Given the description of an element on the screen output the (x, y) to click on. 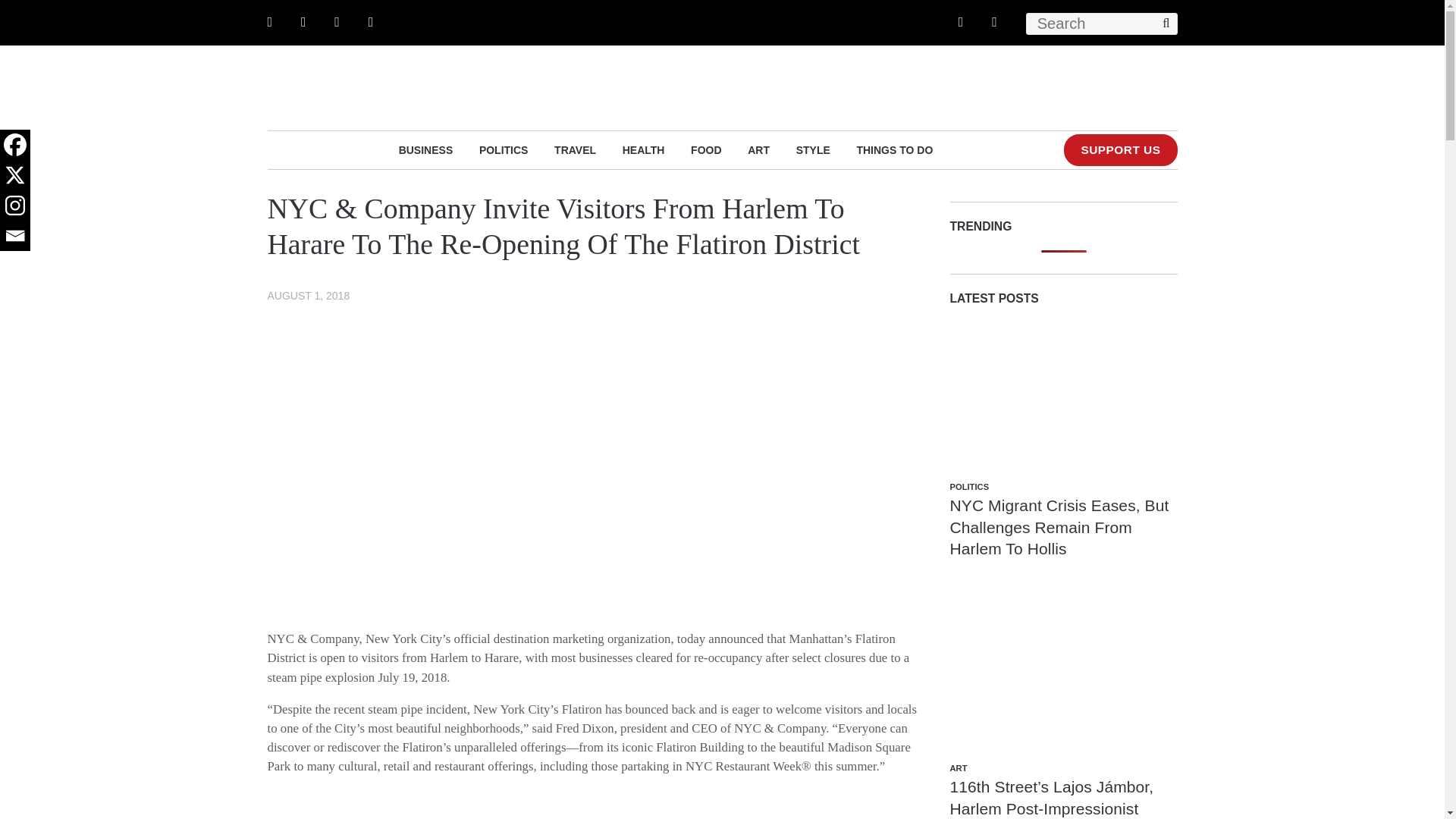
Instagram (15, 205)
Email (15, 235)
SUPPORT US (1120, 150)
POLITICS (503, 149)
X (15, 174)
BUSINESS (425, 149)
HEALTH (644, 149)
Facebook (15, 144)
THINGS TO DO (894, 149)
TRAVEL (574, 149)
